Given the description of an element on the screen output the (x, y) to click on. 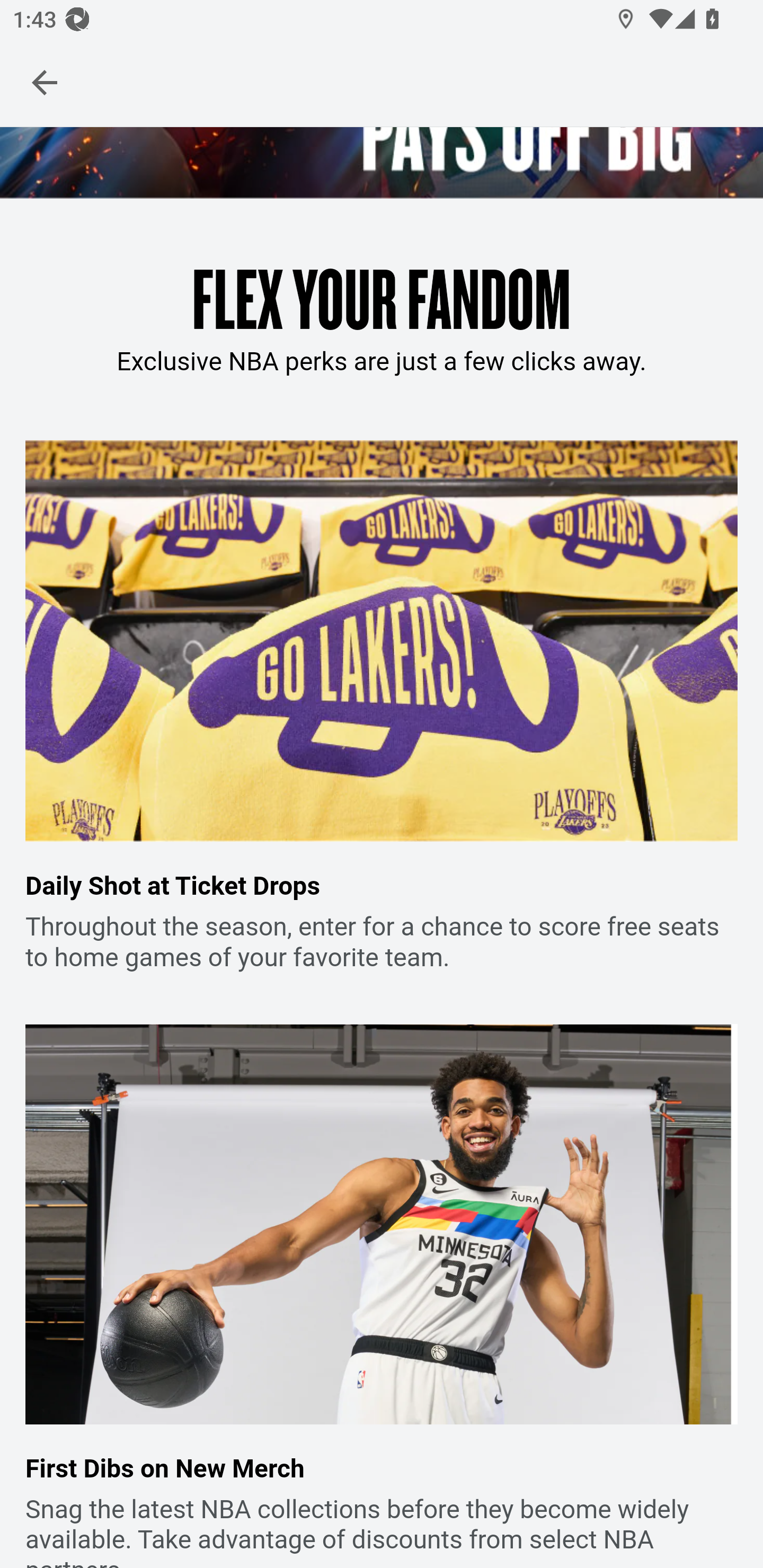
Navigate up (44, 82)
